Given the description of an element on the screen output the (x, y) to click on. 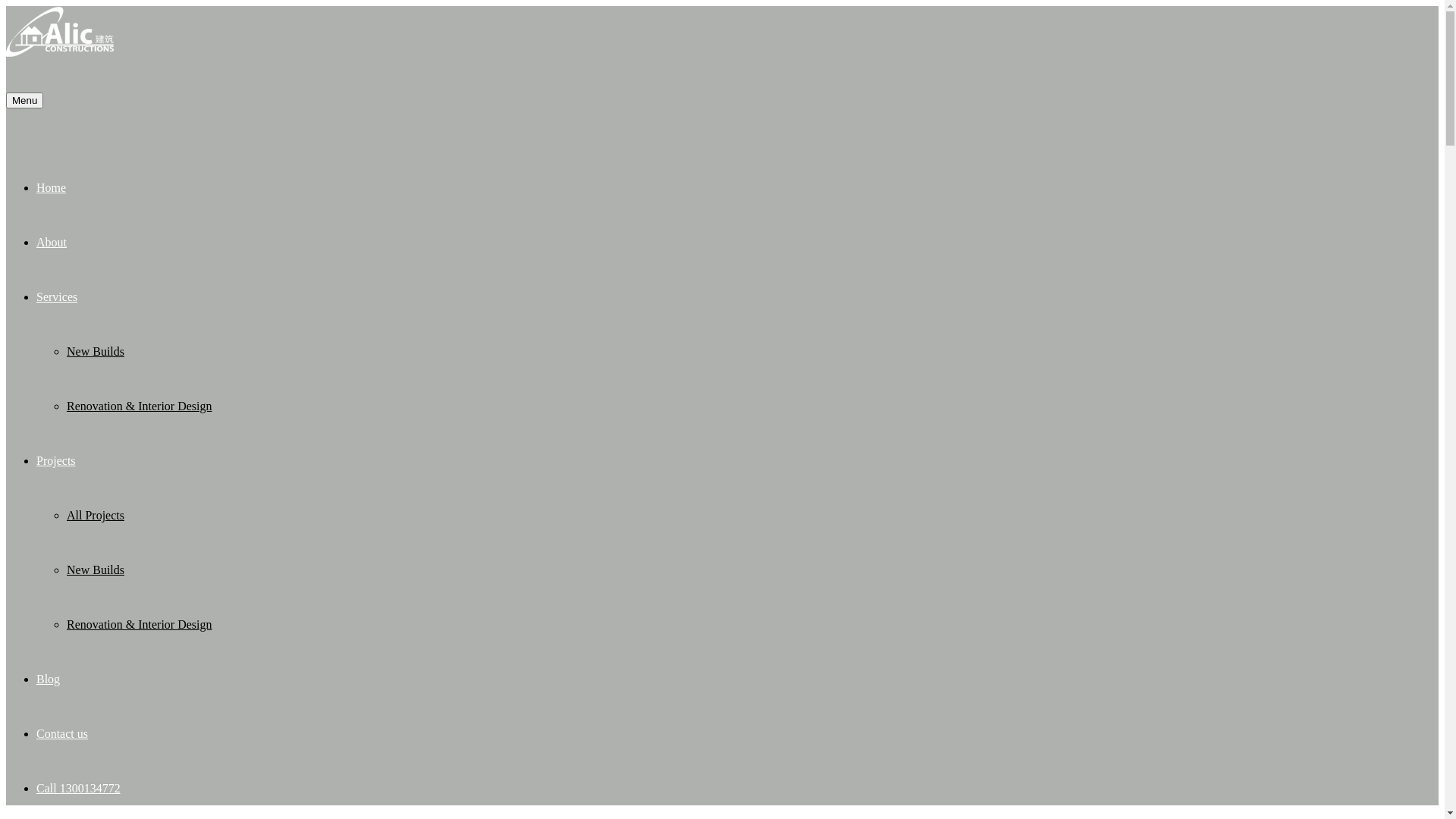
Renovation & Interior Design Element type: text (742, 624)
Contact us Element type: text (727, 733)
Menu Element type: text (24, 100)
Renovation & Interior Design Element type: text (742, 406)
New Builds Element type: text (742, 351)
New Builds Element type: text (742, 569)
About Element type: text (727, 242)
Blog Element type: text (727, 679)
Services Element type: text (727, 296)
Projects Element type: text (727, 460)
All Projects Element type: text (742, 515)
Home Element type: text (727, 187)
Call 1300134772 Element type: text (727, 788)
